Given the description of an element on the screen output the (x, y) to click on. 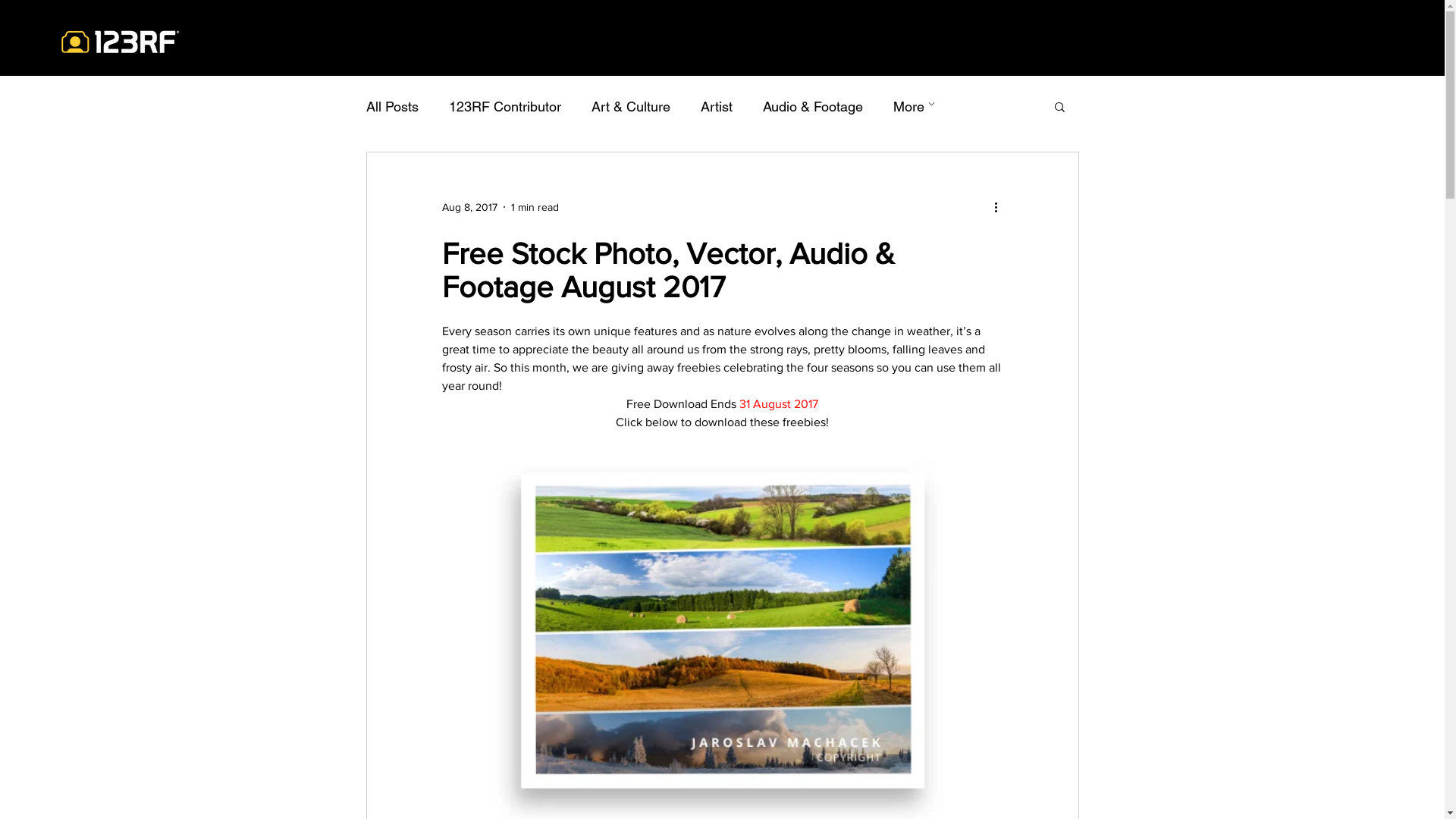
Art & Culture Element type: text (630, 106)
Audio & Footage Element type: text (812, 106)
All Posts Element type: text (391, 106)
123RF Contributor Element type: text (504, 106)
Artist Element type: text (716, 106)
